Given the description of an element on the screen output the (x, y) to click on. 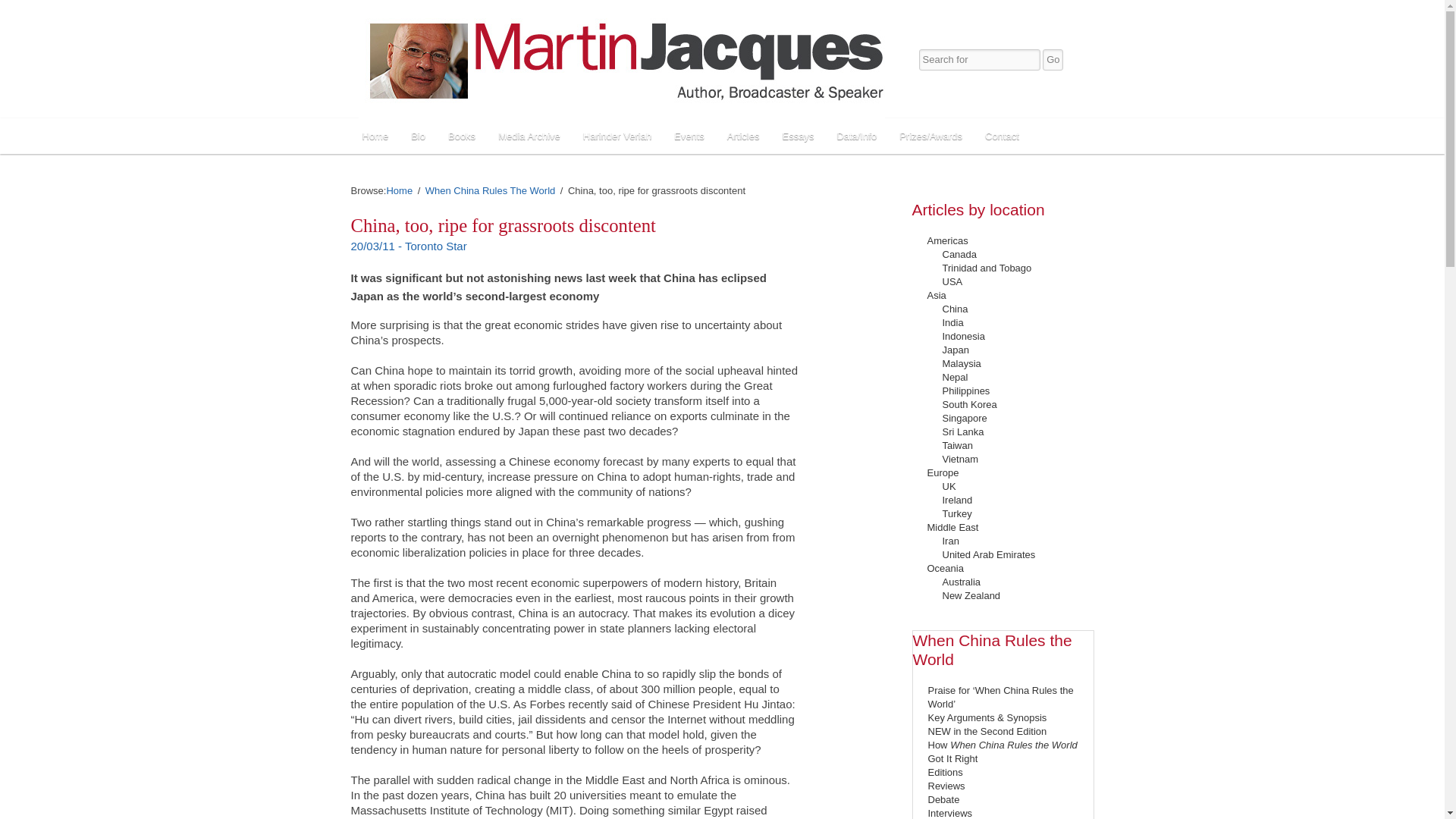
Articles (743, 135)
Events (689, 135)
Books (461, 135)
Bio (417, 135)
Media Archive (529, 135)
Home (374, 135)
Harinder Veriah (617, 135)
Essays (797, 135)
Search for (979, 59)
Go (1052, 59)
